Given the description of an element on the screen output the (x, y) to click on. 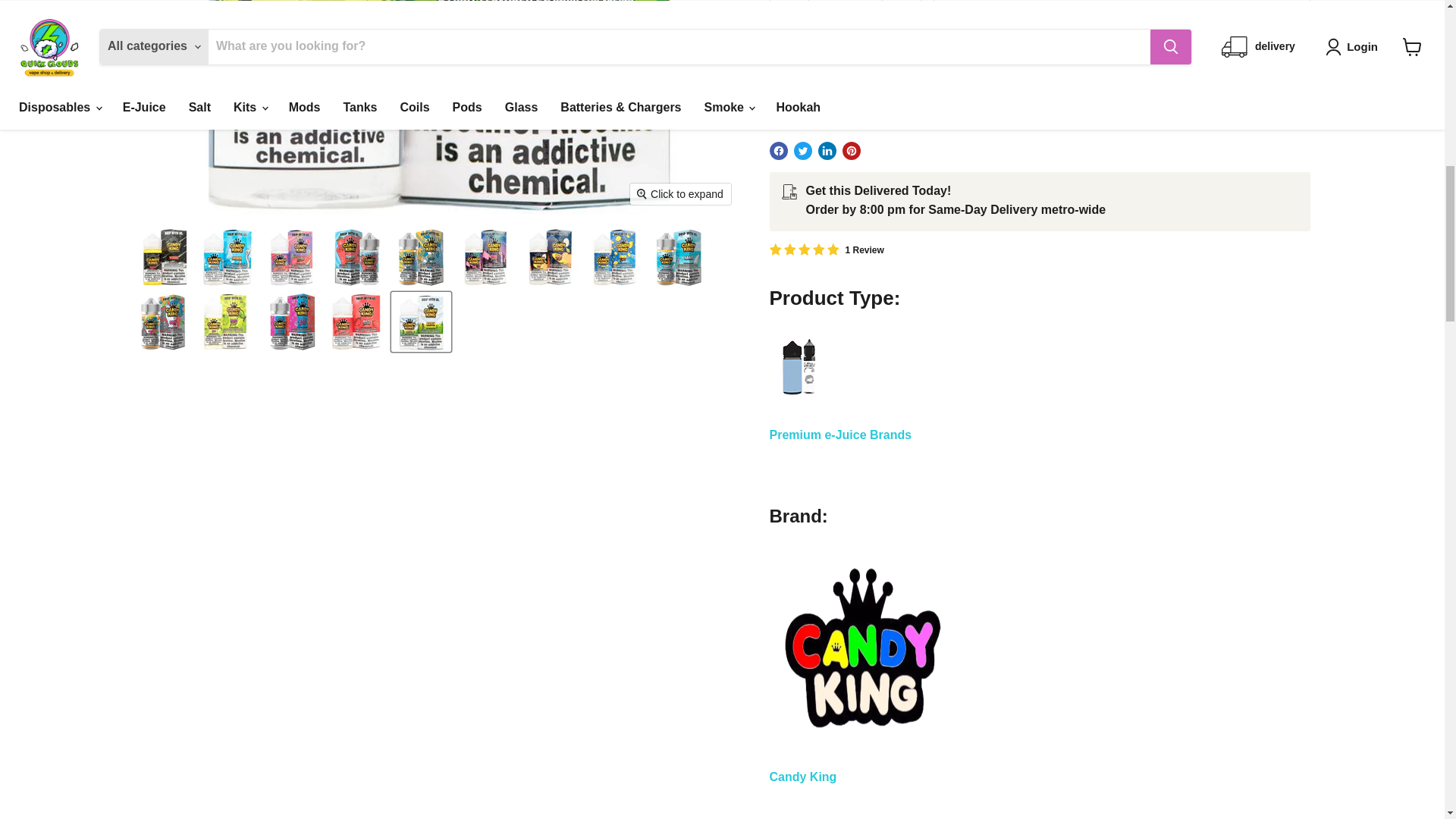
all e-juice is buy 3 get 1 free (796, 402)
1 (845, 17)
